Given the description of an element on the screen output the (x, y) to click on. 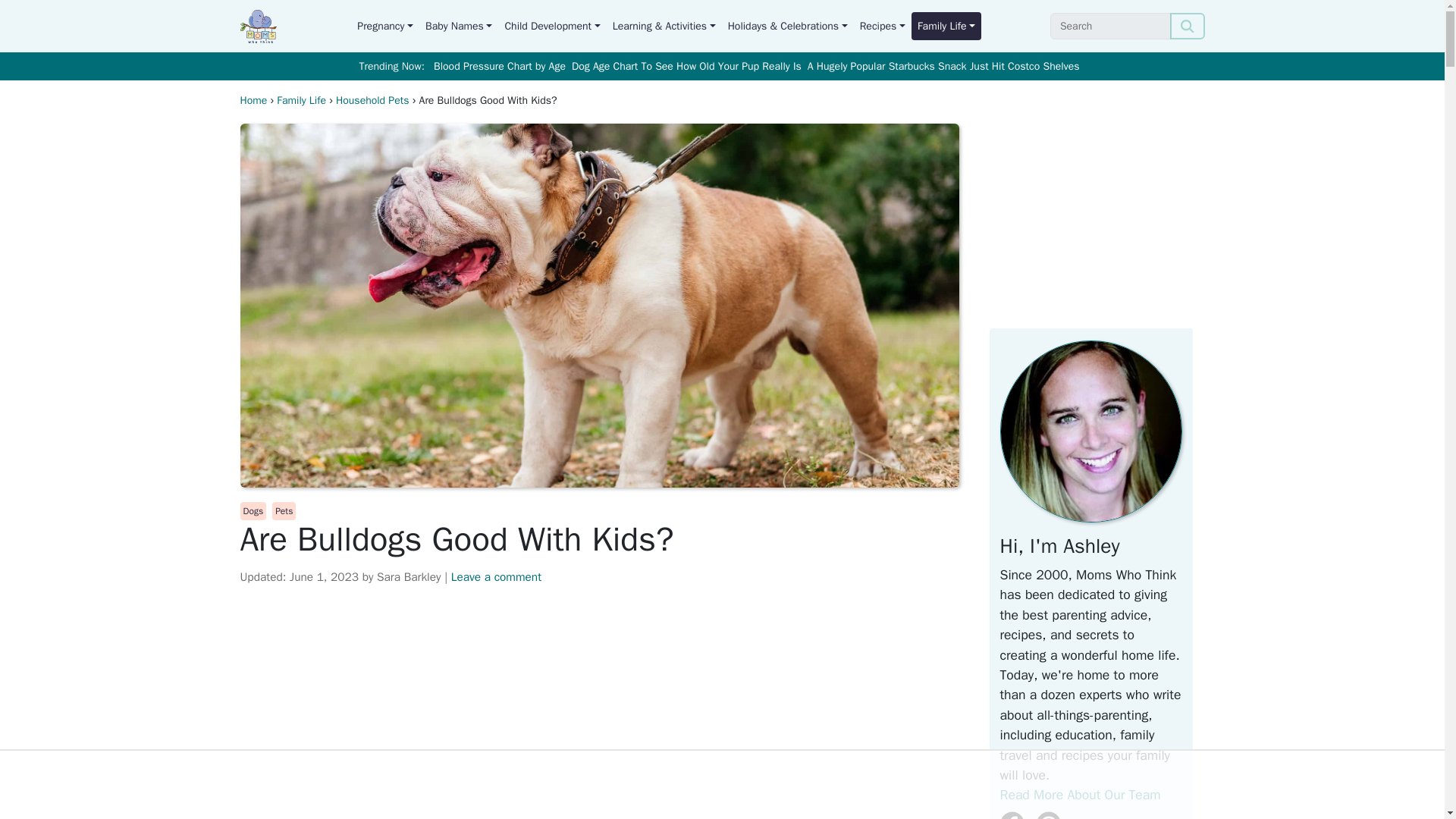
Child Development (551, 26)
Pregnancy (384, 26)
Recipes (882, 26)
Baby Names (458, 26)
